Given the description of an element on the screen output the (x, y) to click on. 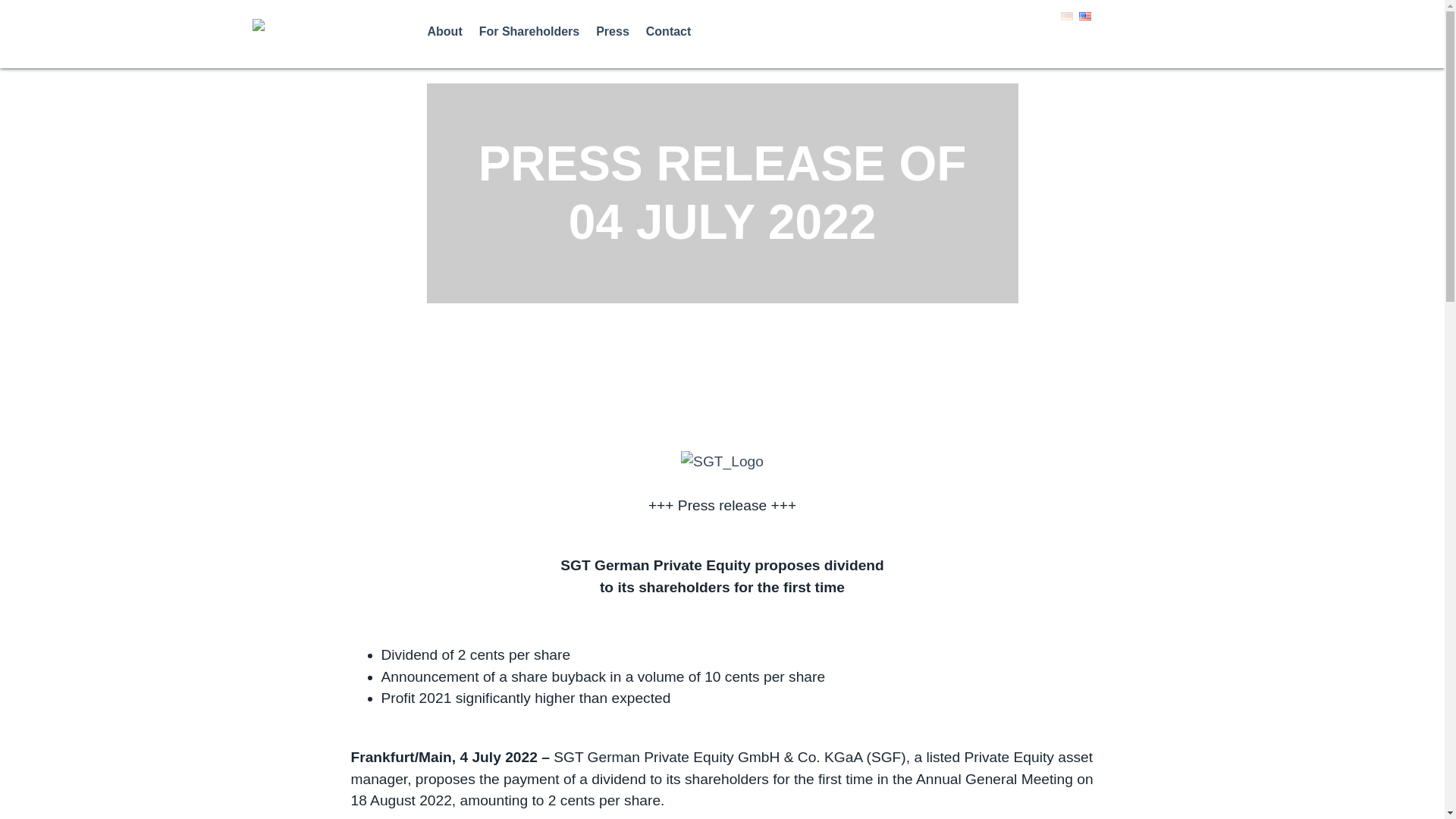
Deutsch (1065, 16)
About (453, 31)
For Shareholders (537, 31)
Press (620, 31)
English (1084, 16)
